Given the description of an element on the screen output the (x, y) to click on. 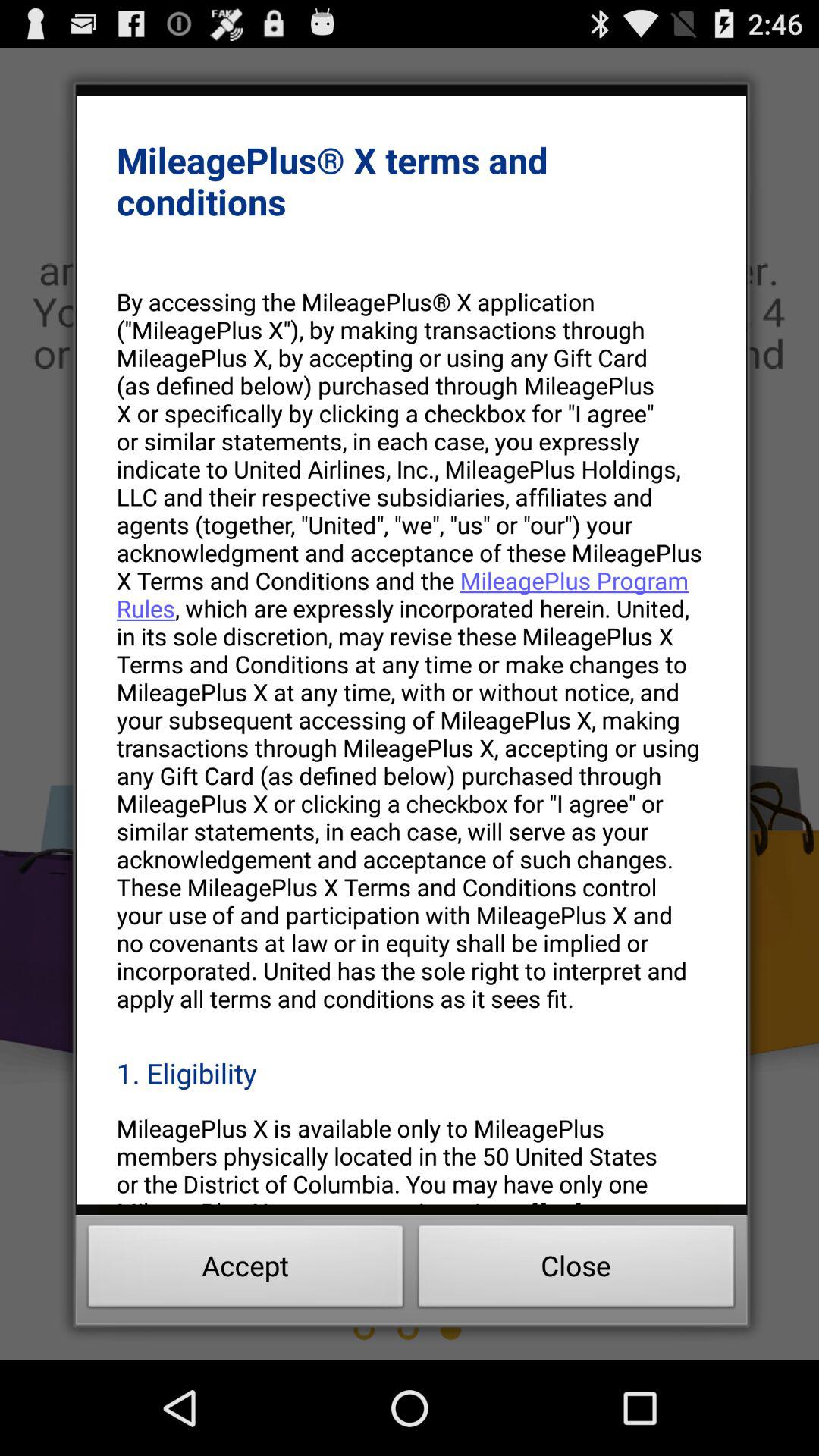
swipe to the close button (576, 1270)
